Given the description of an element on the screen output the (x, y) to click on. 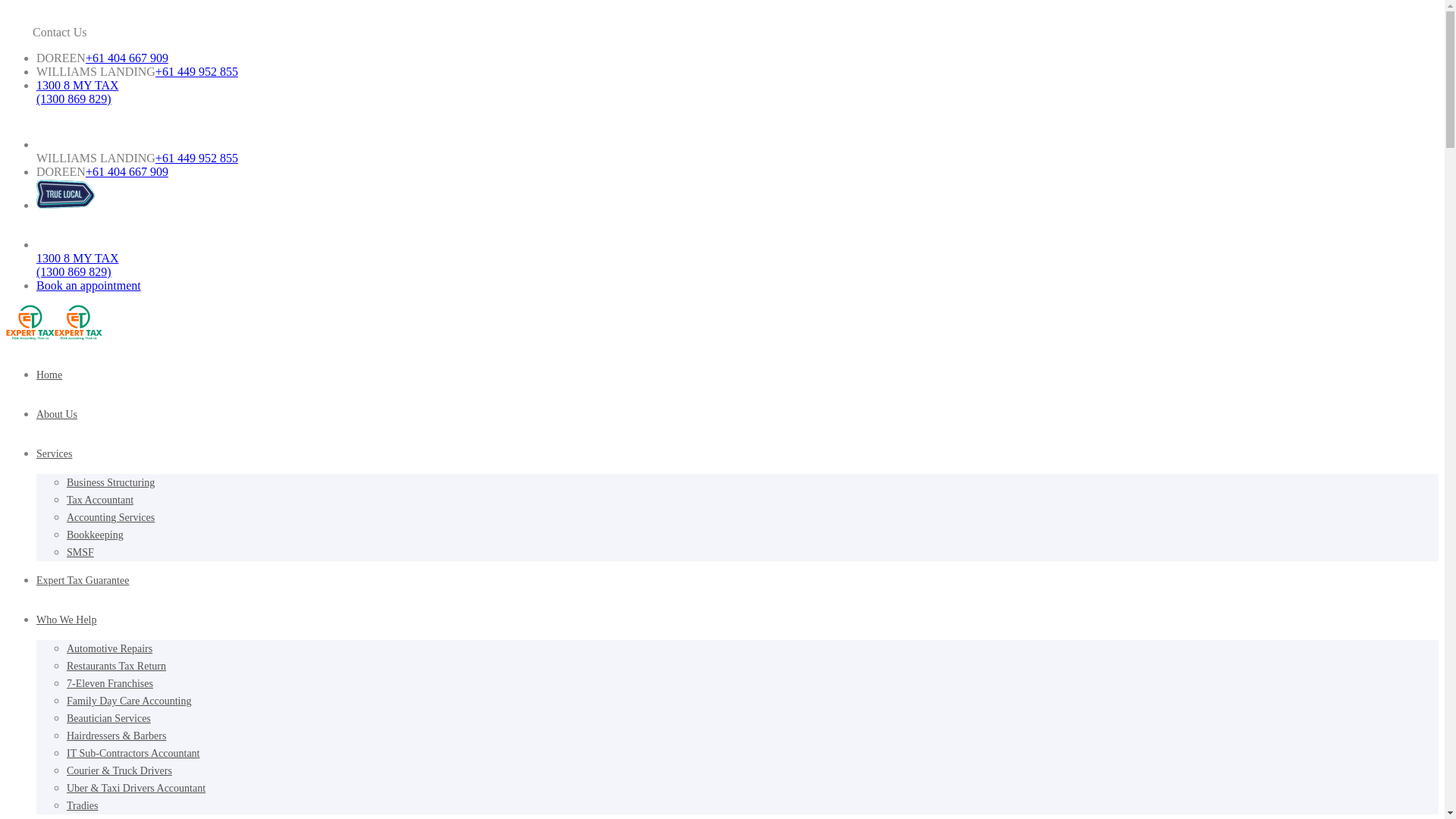
Family Day Care Accounting Element type: text (128, 700)
+61 449 952 855 Element type: text (196, 71)
Services Element type: text (54, 453)
Accounting Services Element type: text (110, 517)
+61 404 667 909 Element type: text (126, 171)
Restaurants Tax Return Element type: text (116, 665)
+61 404 667 909 Element type: text (126, 57)
Business Structuring Element type: text (110, 482)
Tax Accountant Element type: text (99, 499)
Hairdressers & Barbers Element type: text (116, 735)
Book an appointment Element type: text (88, 285)
Home Element type: text (49, 374)
Automotive Repairs Element type: text (109, 648)
1300 8 MY TAX
(1300 869 829) Element type: text (77, 264)
1300 8 MY TAX
(1300 869 829) Element type: text (77, 91)
Beautician Services Element type: text (108, 718)
Courier & Truck Drivers Element type: text (119, 770)
Who We Help Element type: text (66, 619)
Uber & Taxi Drivers Accountant Element type: text (135, 787)
SMSF Element type: text (80, 552)
+61 449 952 855 Element type: text (196, 157)
7-Eleven Franchises Element type: text (109, 683)
About Us Element type: text (56, 414)
Tradies Element type: text (82, 805)
IT Sub-Contractors Accountant Element type: text (133, 753)
Expert Tax Guarantee Element type: text (82, 580)
Bookkeeping Element type: text (94, 534)
